Given the description of an element on the screen output the (x, y) to click on. 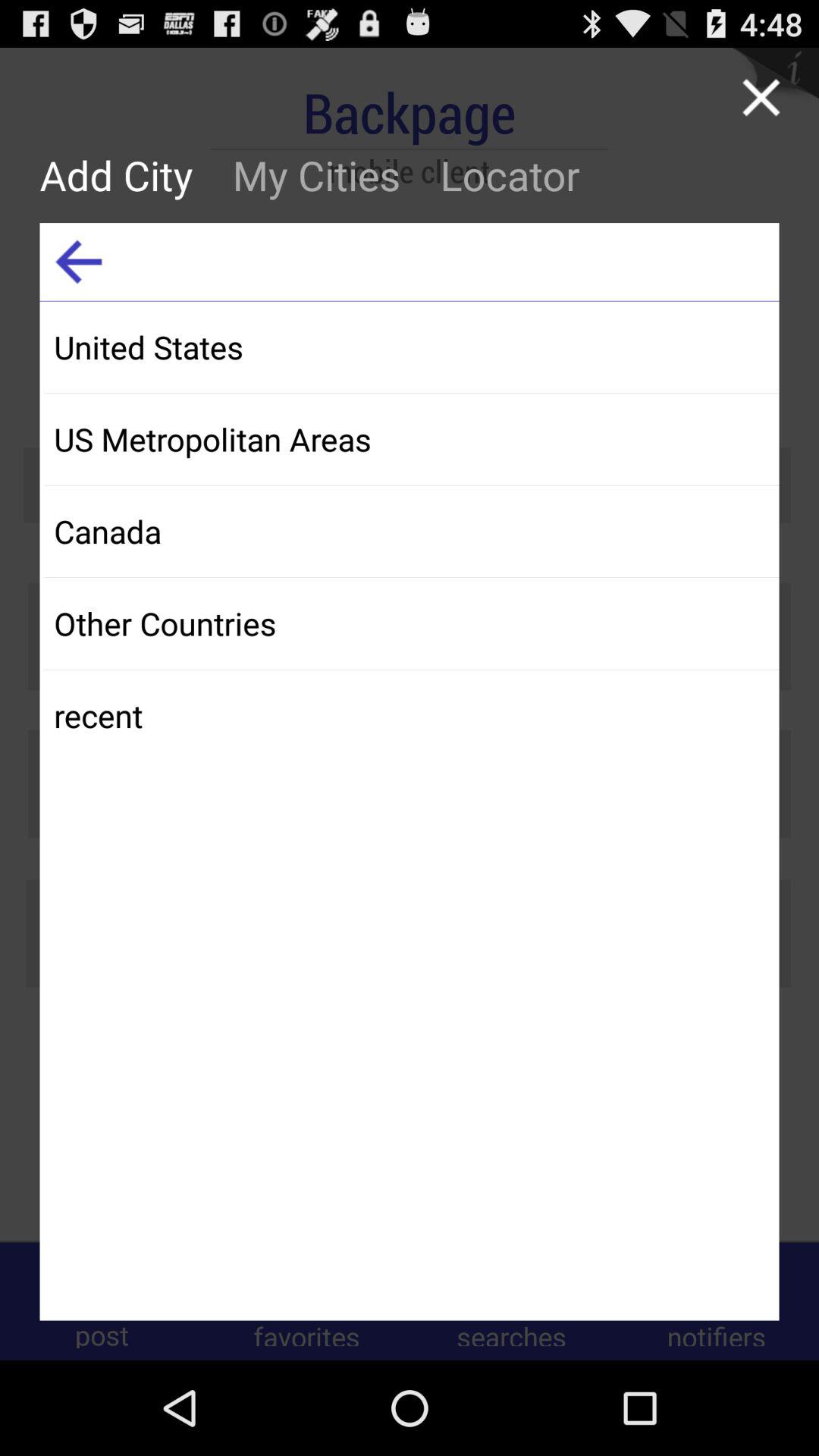
turn off the app above other countries item (411, 530)
